Given the description of an element on the screen output the (x, y) to click on. 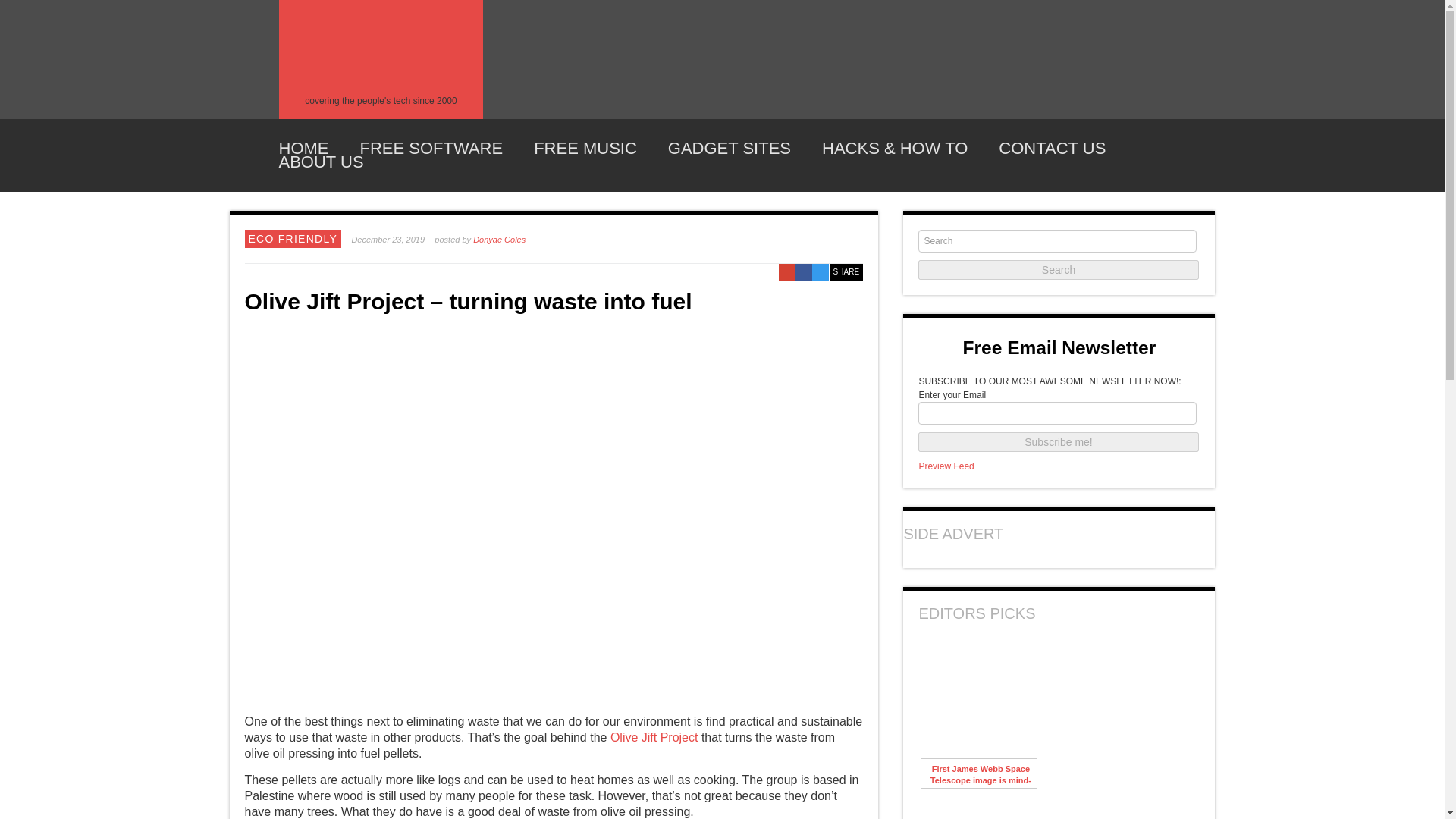
SHARE (846, 271)
Donyae Coles (499, 239)
View all posts in Eco Friendly (292, 238)
Posts by Donyae Coles (499, 239)
Olive Jift Project (654, 737)
ABOUT US (321, 161)
ECO FRIENDLY (292, 238)
Search (1058, 270)
GADGET SITES (729, 148)
FREE SOFTWARE (430, 148)
